Given the description of an element on the screen output the (x, y) to click on. 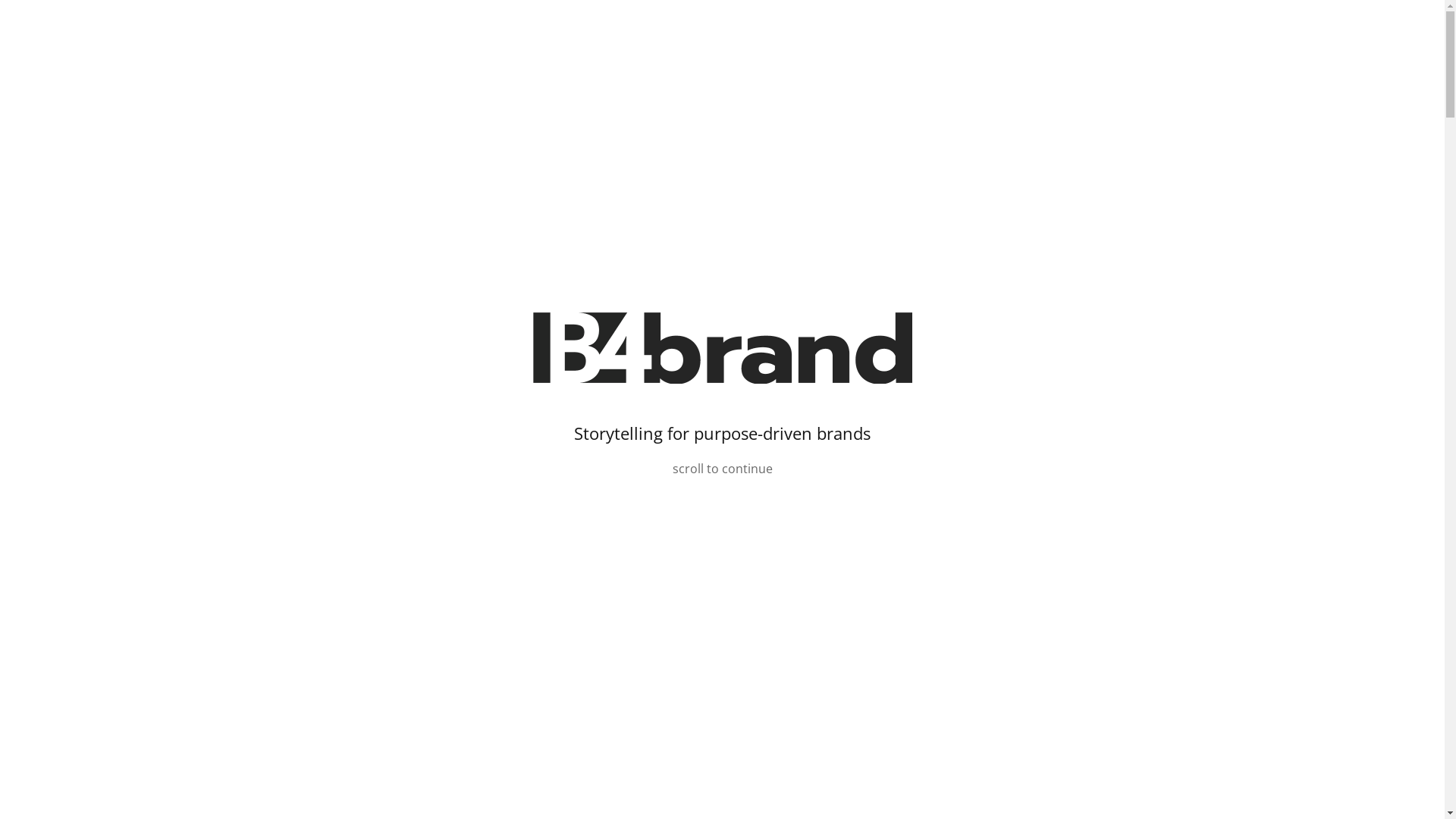
scroll to continue Element type: text (721, 468)
B4brand logo Element type: hover (721, 347)
